Given the description of an element on the screen output the (x, y) to click on. 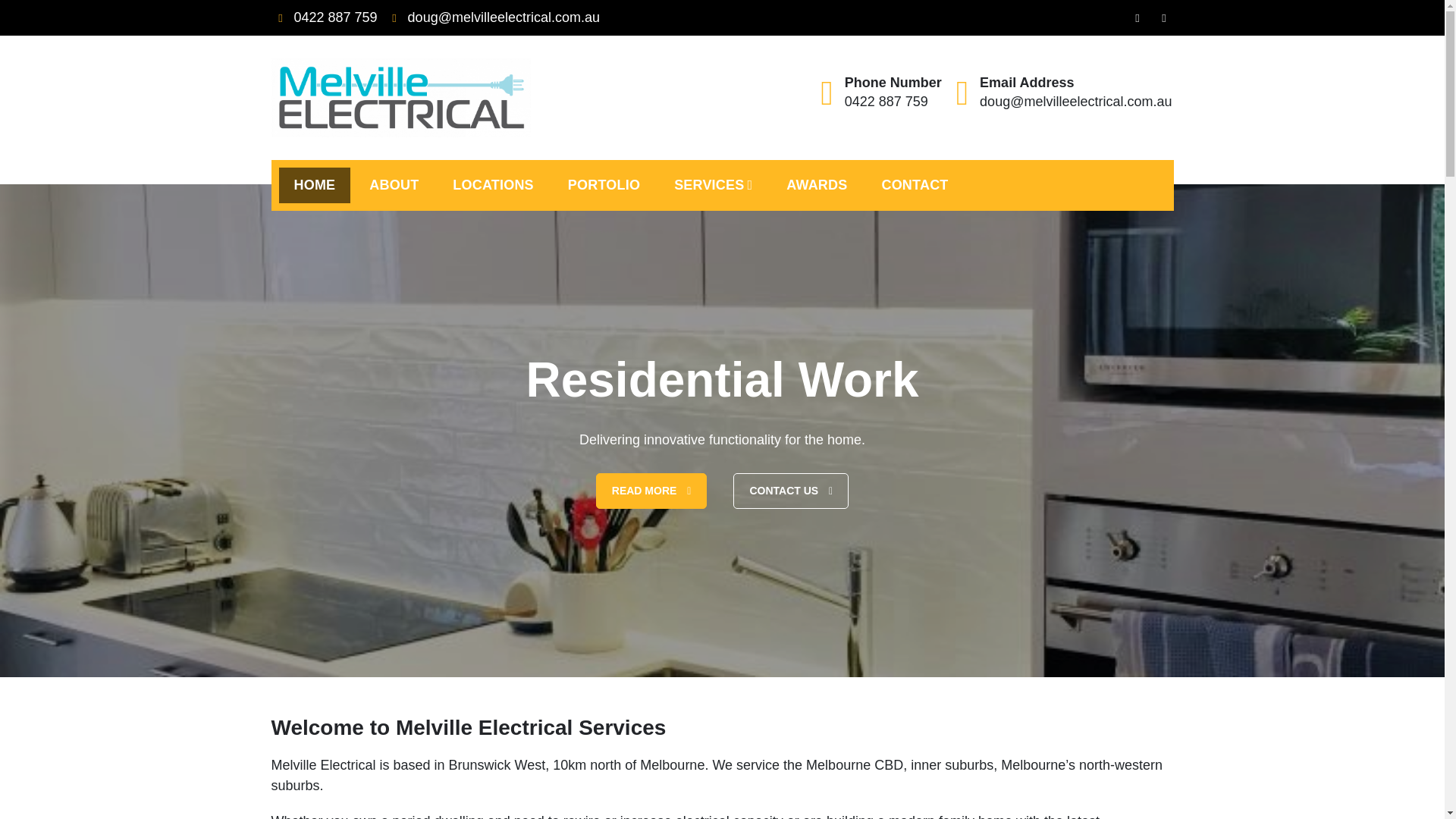
Melville Electrical (384, 153)
0422 887 759 (886, 101)
0422 887 759 (323, 17)
CONTACT (914, 185)
LOCATIONS (493, 185)
AWARDS (816, 185)
SERVICES (713, 185)
PORTOLIO (604, 185)
HOME (314, 185)
ABOUT (393, 185)
